Given the description of an element on the screen output the (x, y) to click on. 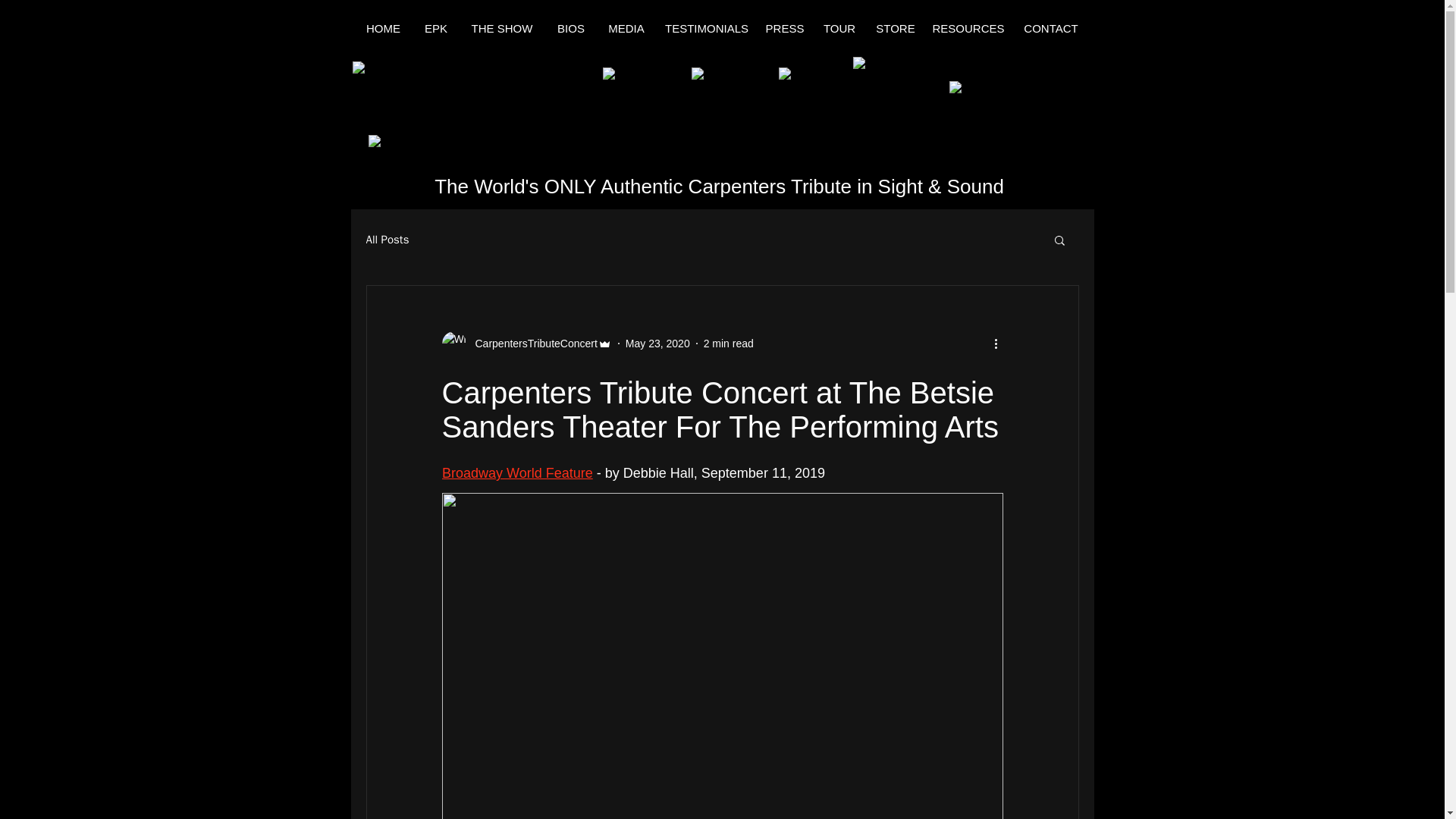
TOUR (839, 28)
BIOS (571, 28)
Broadway World Feature (516, 473)
MEDIA (625, 28)
PRESS (784, 28)
CONTACT (1050, 28)
STORE (895, 28)
All Posts (387, 238)
RESOURCES (967, 28)
May 23, 2020 (658, 342)
